Given the description of an element on the screen output the (x, y) to click on. 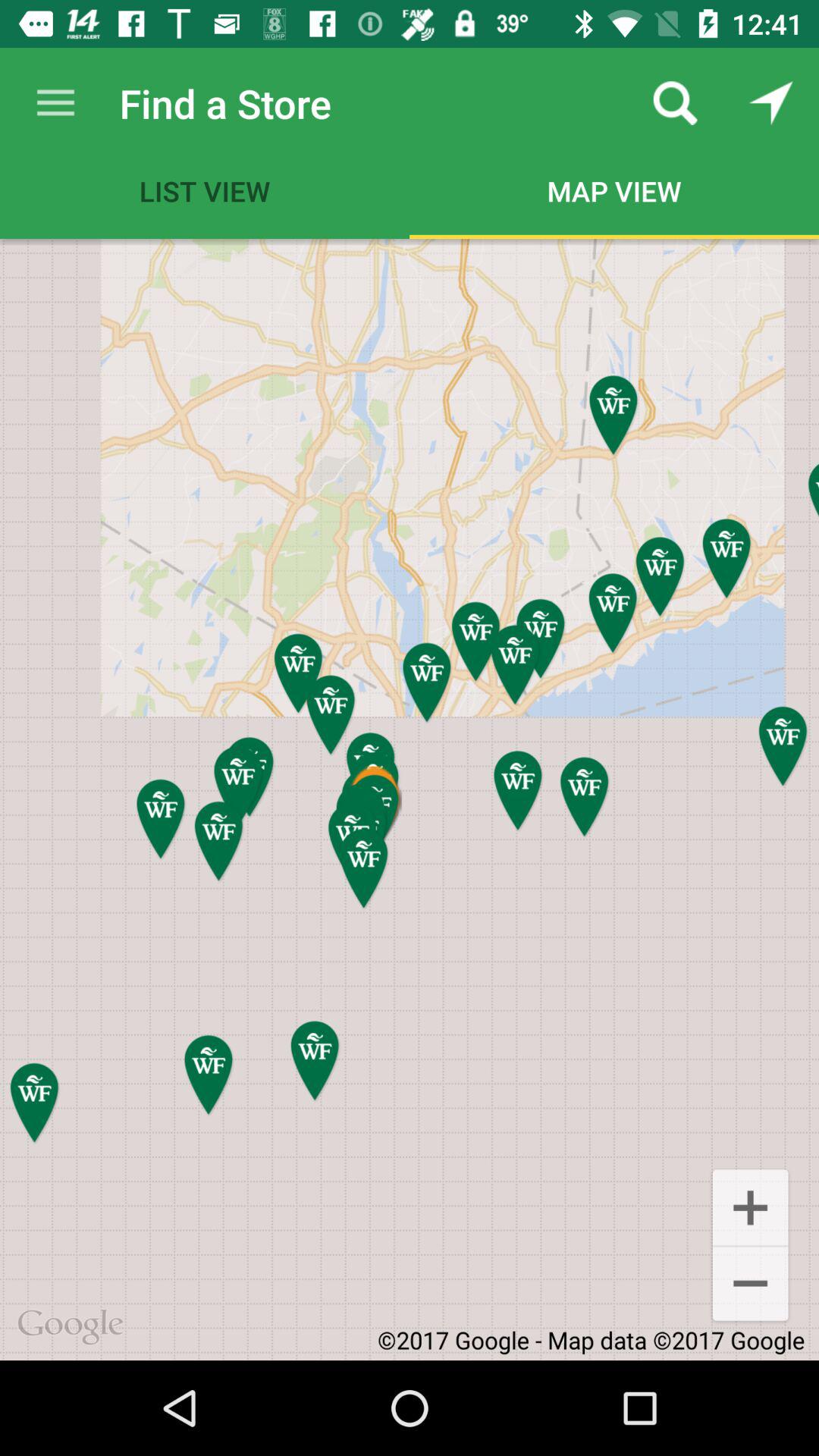
turn on app to the right of the find a store (675, 103)
